Given the description of an element on the screen output the (x, y) to click on. 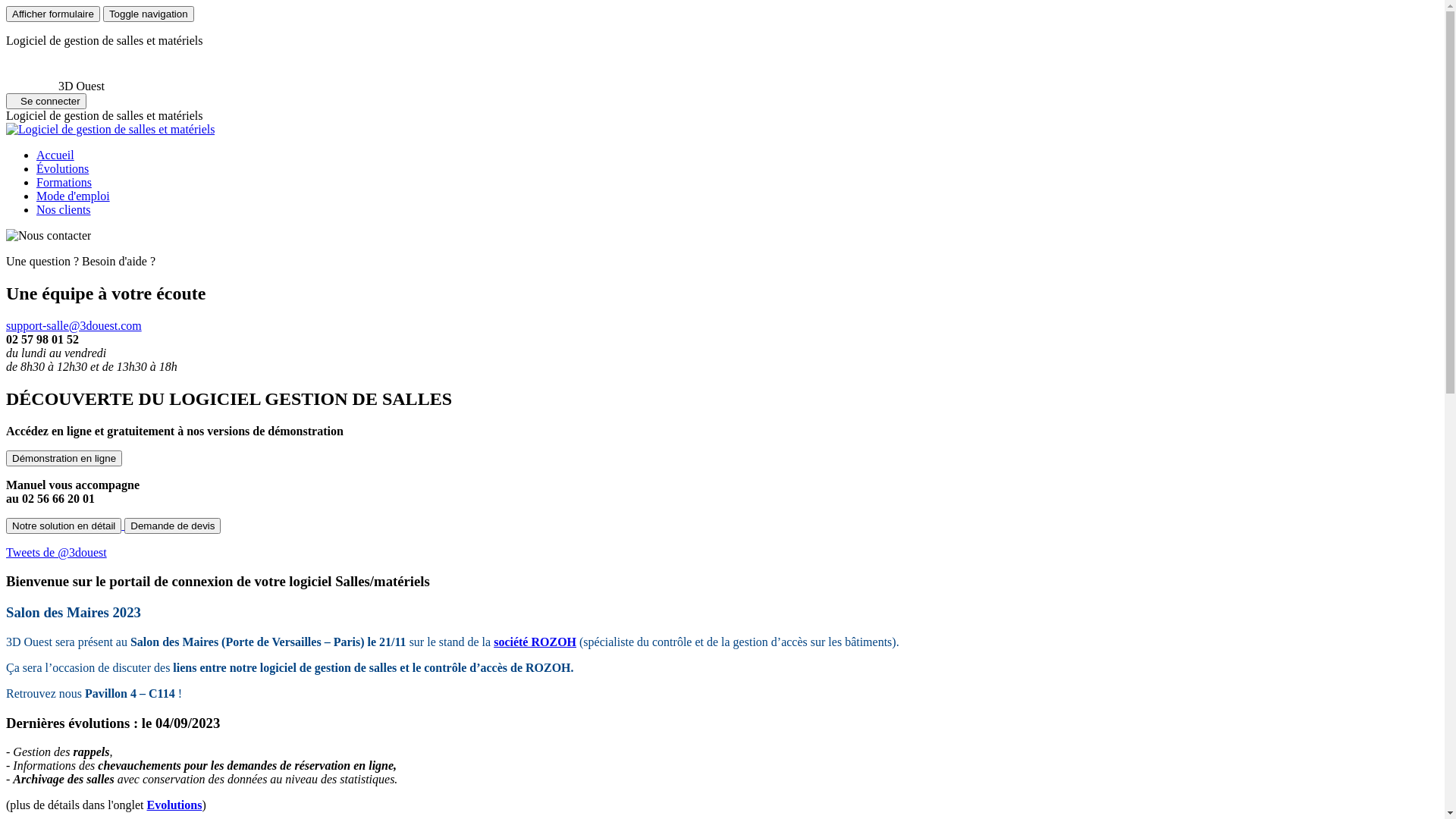
Evolutions Element type: text (174, 804)
Accueil Element type: text (55, 154)
Demande de devis Element type: text (172, 525)
Tweets de @3douest Element type: text (56, 552)
   Se connecter Element type: text (46, 101)
Demande de devis Element type: text (172, 524)
Mode d'emploi Element type: text (72, 195)
support-salle@3douest.com Element type: text (73, 325)
Toggle navigation Element type: text (148, 13)
Afficher formulaire Element type: text (53, 13)
Nos clients Element type: text (63, 209)
Formations Element type: text (63, 181)
